Given the description of an element on the screen output the (x, y) to click on. 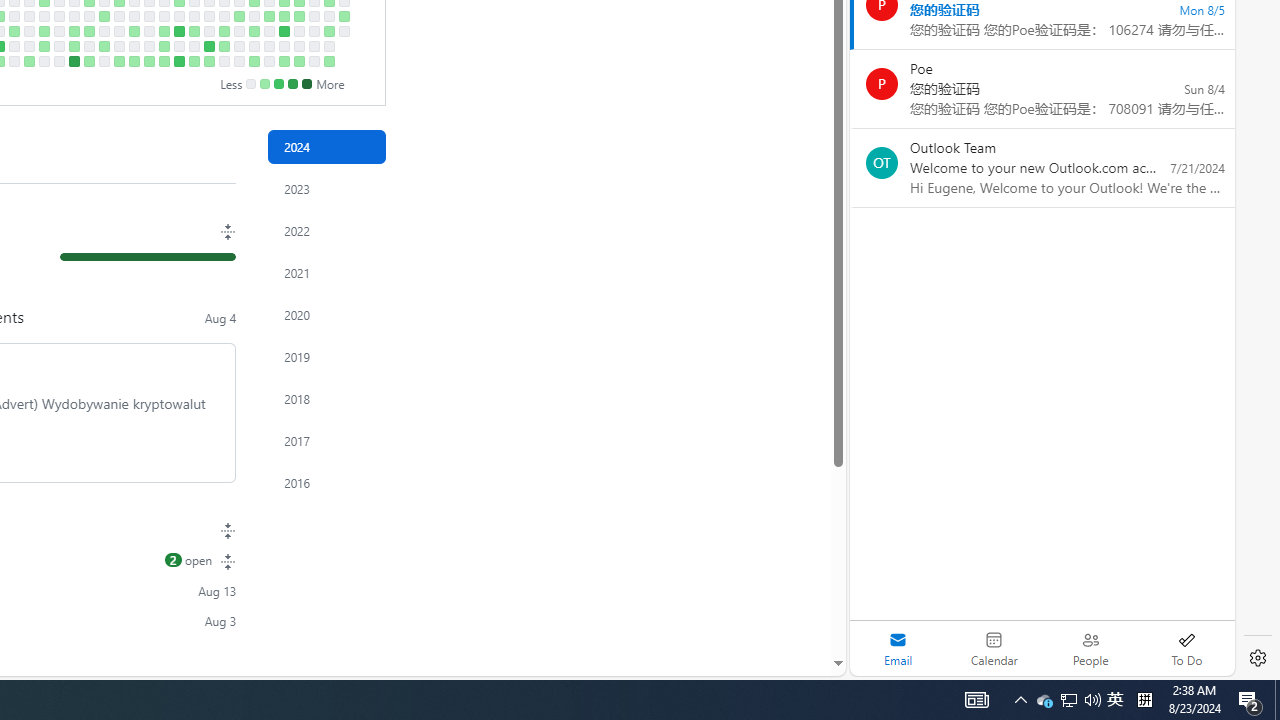
No contributions on June 14th. (193, 46)
No contributions on May 17th. (133, 46)
No contributions on June 5th. (178, 16)
No contributions on May 29th. (163, 16)
Contribution activity in 2022 (326, 230)
No contributions on April 10th. (58, 16)
3 contributions on April 19th. (73, 46)
Settings (1258, 658)
No contributions on August 14th. (328, 16)
No contributions on March 20th. (13, 16)
No contributions on June 26th. (223, 16)
2 contributions on May 30th. (163, 30)
No contributions on August 10th. (314, 61)
